Given the description of an element on the screen output the (x, y) to click on. 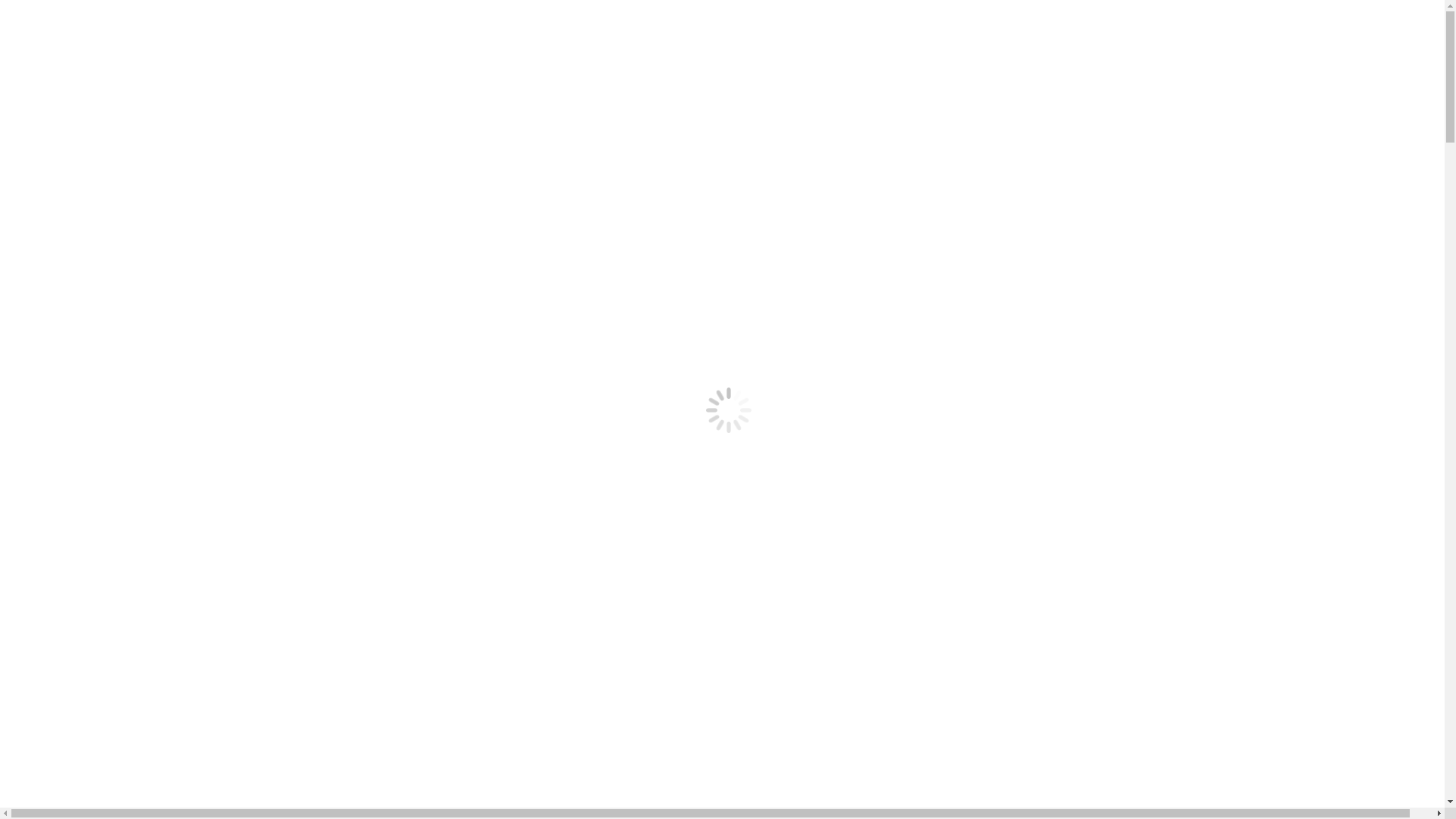
Our Store Element type: text (98, 80)
Instagram page opens in new window Element type: text (24, 27)
Contact Us Element type: text (101, 121)
Skip to content Element type: text (5, 5)
Search Element type: text (66, 147)
Search form Element type: hover (110, 163)
Catering Element type: text (95, 107)
About Us Element type: text (97, 66)
Go! Element type: text (57, 179)
Menus Element type: text (90, 93)
Facebook page opens in new window Element type: text (12, 27)
Mail page opens in new window Element type: text (36, 27)
